Given the description of an element on the screen output the (x, y) to click on. 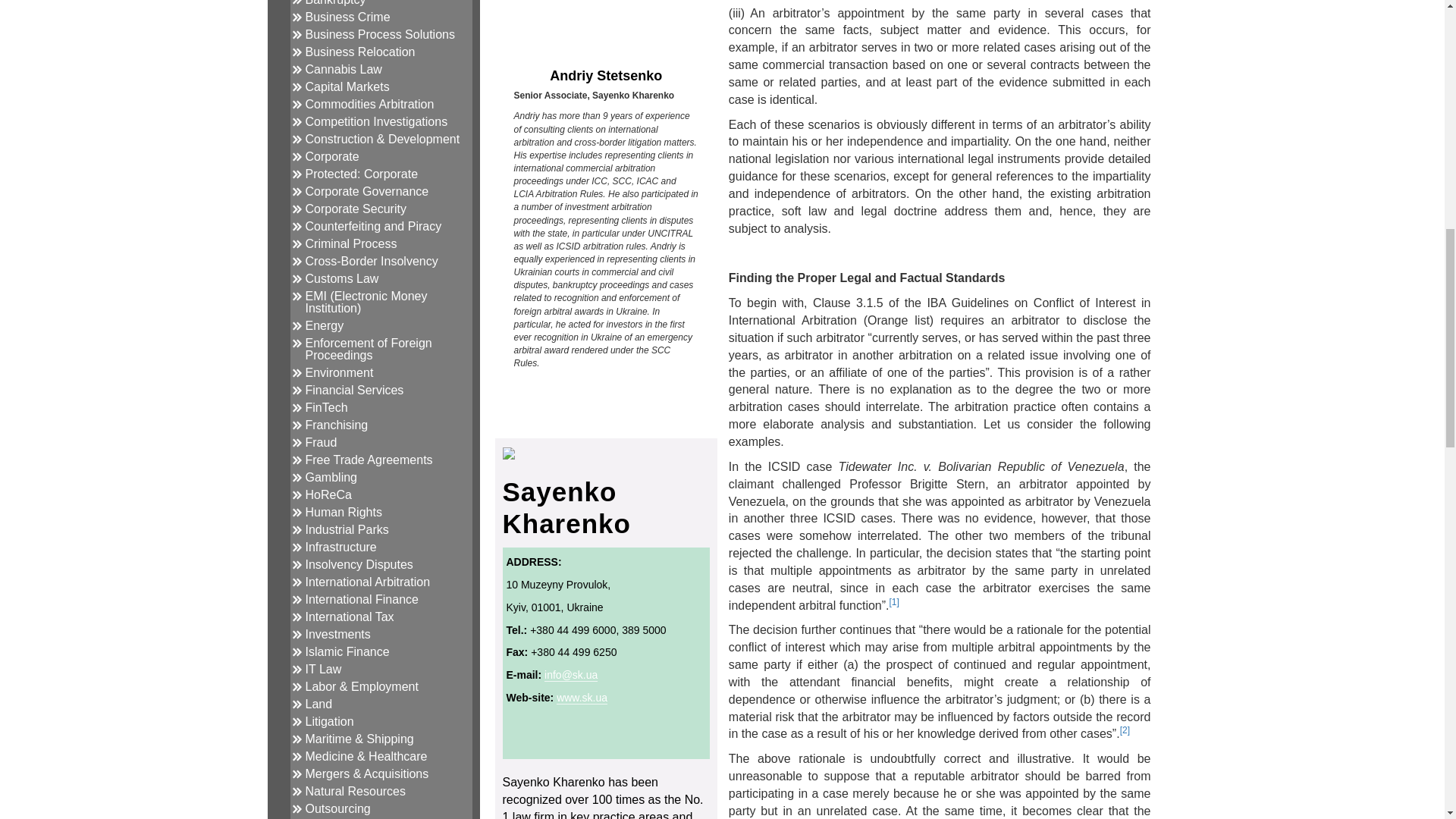
Corporate (331, 155)
Business Process Solutions (379, 33)
Business Crime (347, 16)
Bankruptcy (334, 2)
Protected: Corporate (360, 173)
Cannabis Law (342, 69)
Competition Investigations (375, 121)
Commodities Arbitration (368, 103)
Capital Markets (346, 86)
Business Relocation (359, 51)
